Given the description of an element on the screen output the (x, y) to click on. 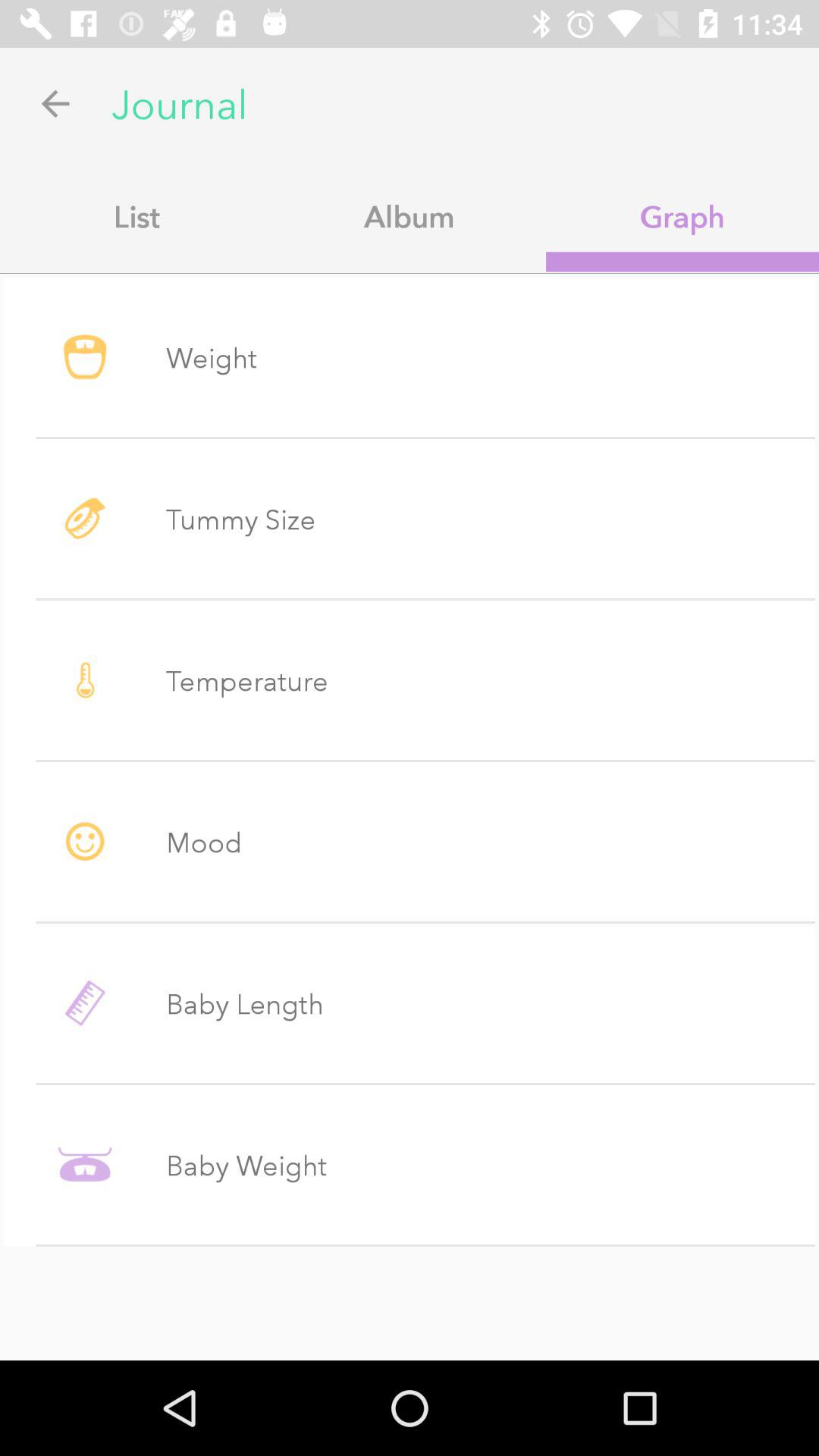
go back (55, 103)
